Given the description of an element on the screen output the (x, y) to click on. 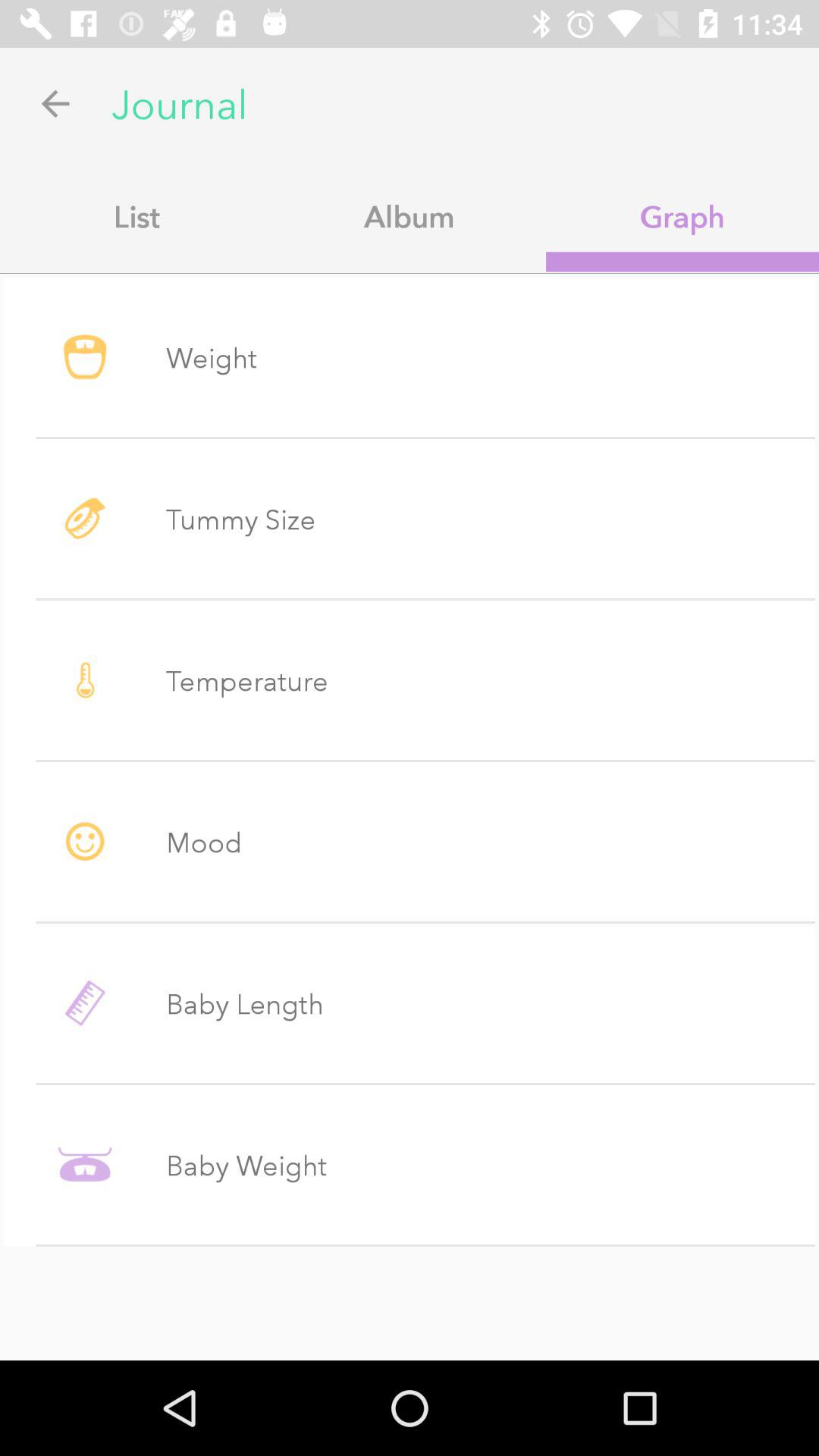
go back (55, 103)
